Given the description of an element on the screen output the (x, y) to click on. 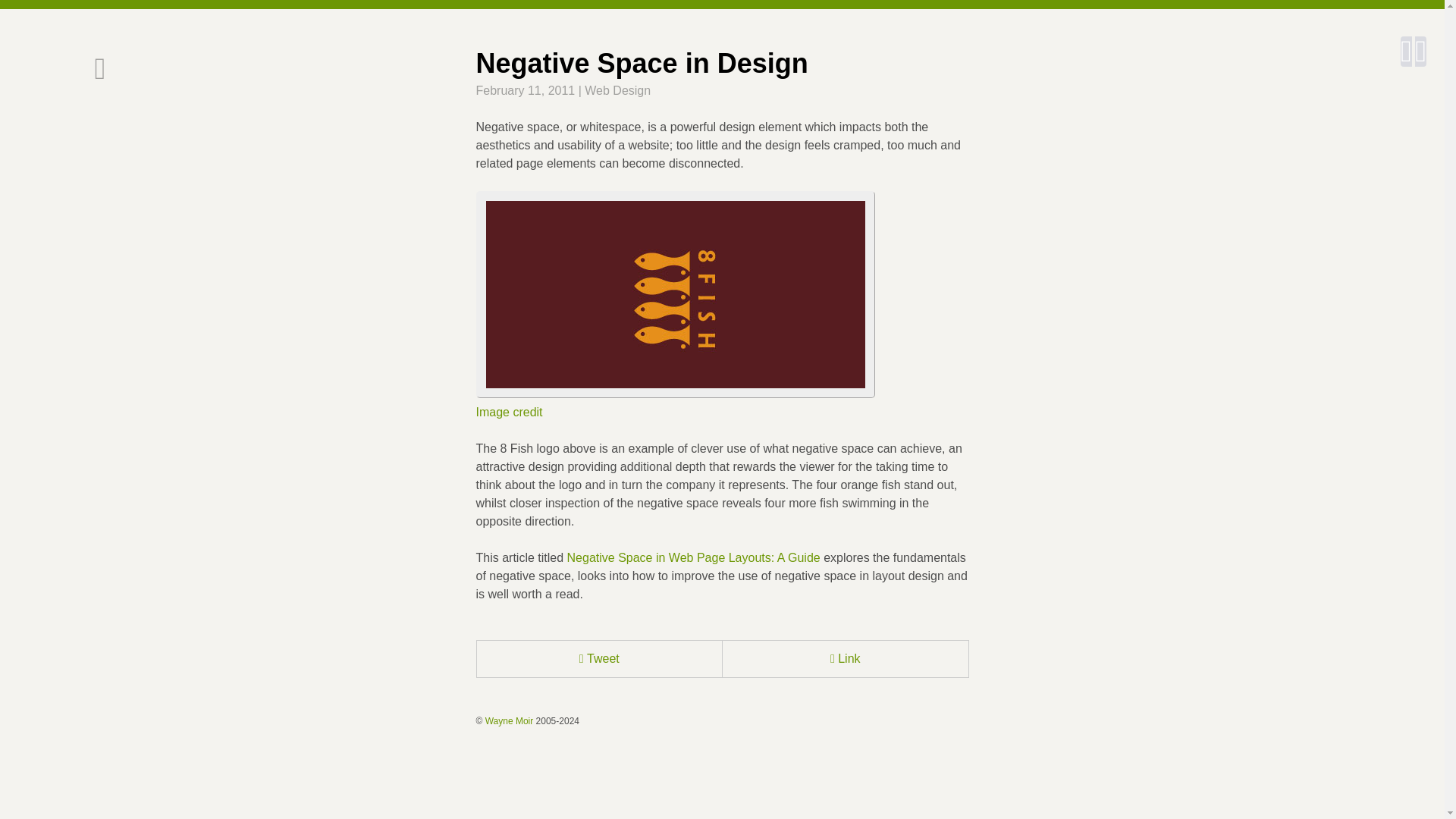
Permanent link to: Negative Space in Design (845, 658)
Link (845, 658)
Negative Space in Web Page Layouts: A Guide (694, 557)
Image credit (509, 411)
Tweet (599, 658)
